Given the description of an element on the screen output the (x, y) to click on. 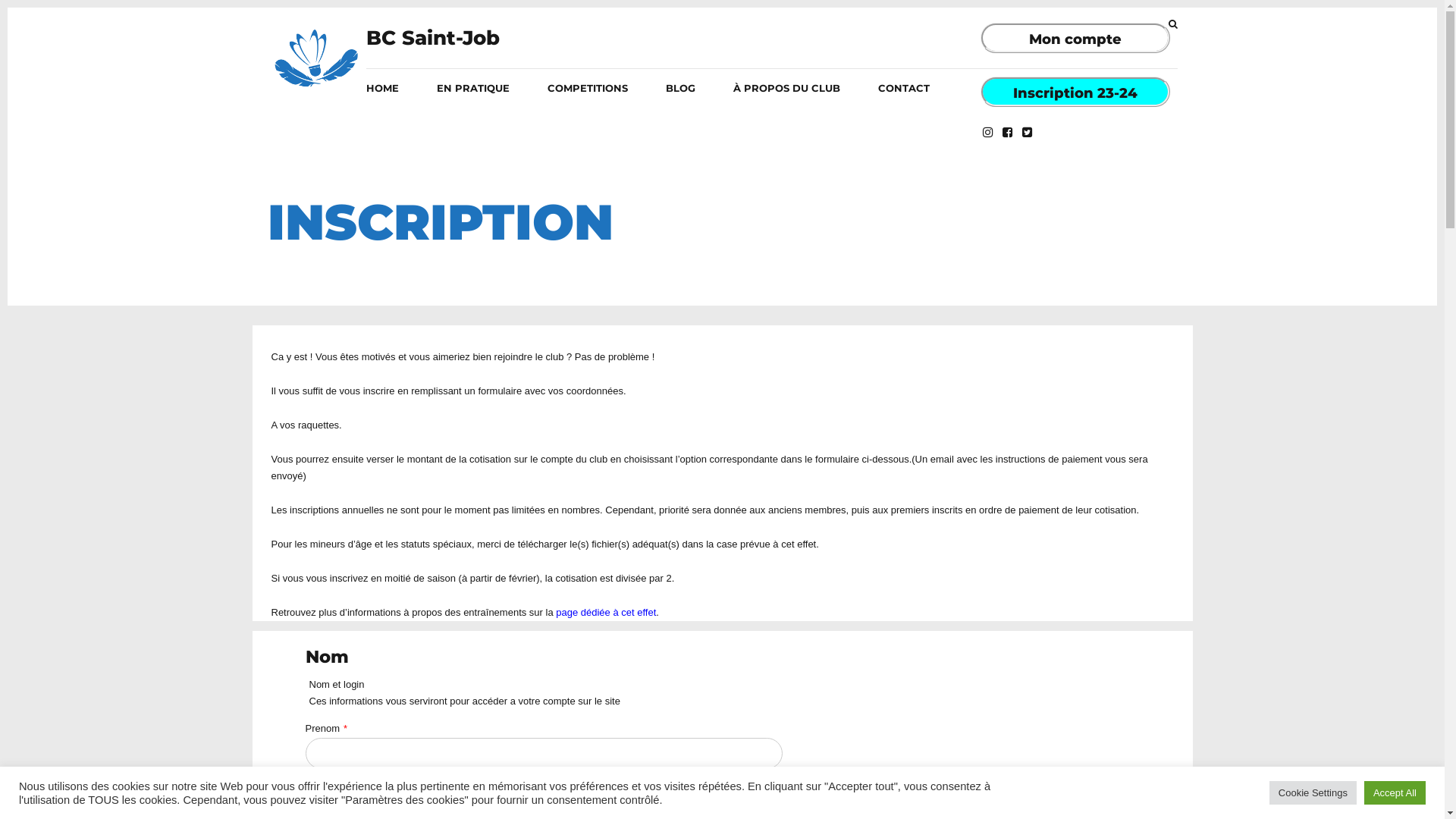
HOME Element type: text (292, 172)
CONTACT Element type: text (903, 87)
Mon compte Element type: text (1074, 38)
BLOG Element type: text (680, 87)
HOME Element type: text (381, 87)
Inscription 23-24 Element type: text (1075, 92)
COMPETITIONS Element type: text (587, 87)
Accept All Element type: text (1394, 792)
BC Saint-Job Element type: text (431, 37)
EN PRATIQUE Element type: text (472, 87)
Cookie Settings Element type: text (1312, 792)
